Given the description of an element on the screen output the (x, y) to click on. 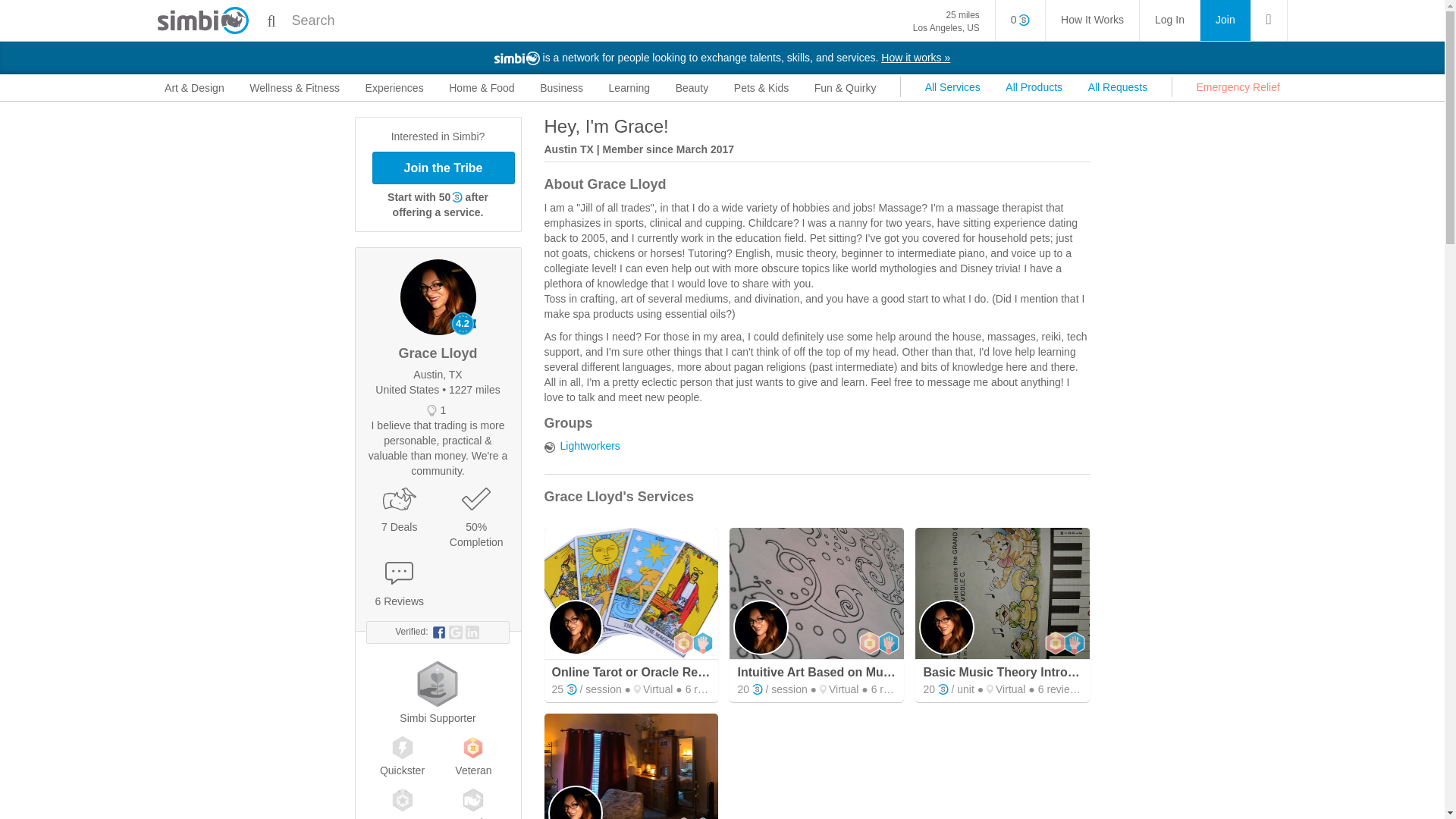
Join (945, 22)
0 (1224, 20)
Log In (1020, 20)
How It Works (1169, 20)
